Given the description of an element on the screen output the (x, y) to click on. 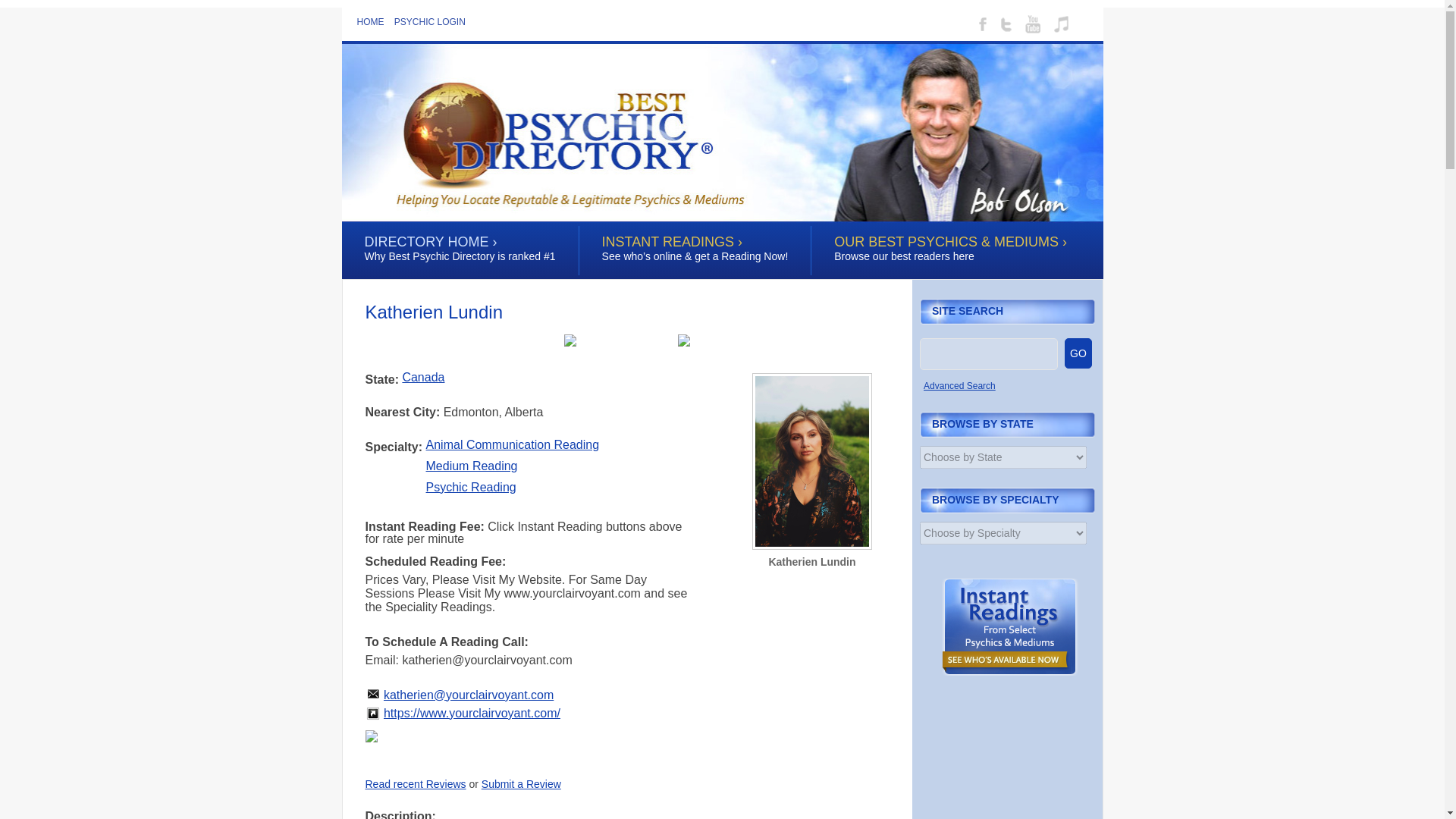
Get an Instant Reading (1010, 671)
Canada (422, 377)
Submit a Review (520, 784)
Advanced Search (959, 385)
PSYCHIC LOGIN (433, 21)
Animal Communication Reading (512, 444)
Go (13, 8)
HOME (373, 21)
GO (1078, 353)
